Given the description of an element on the screen output the (x, y) to click on. 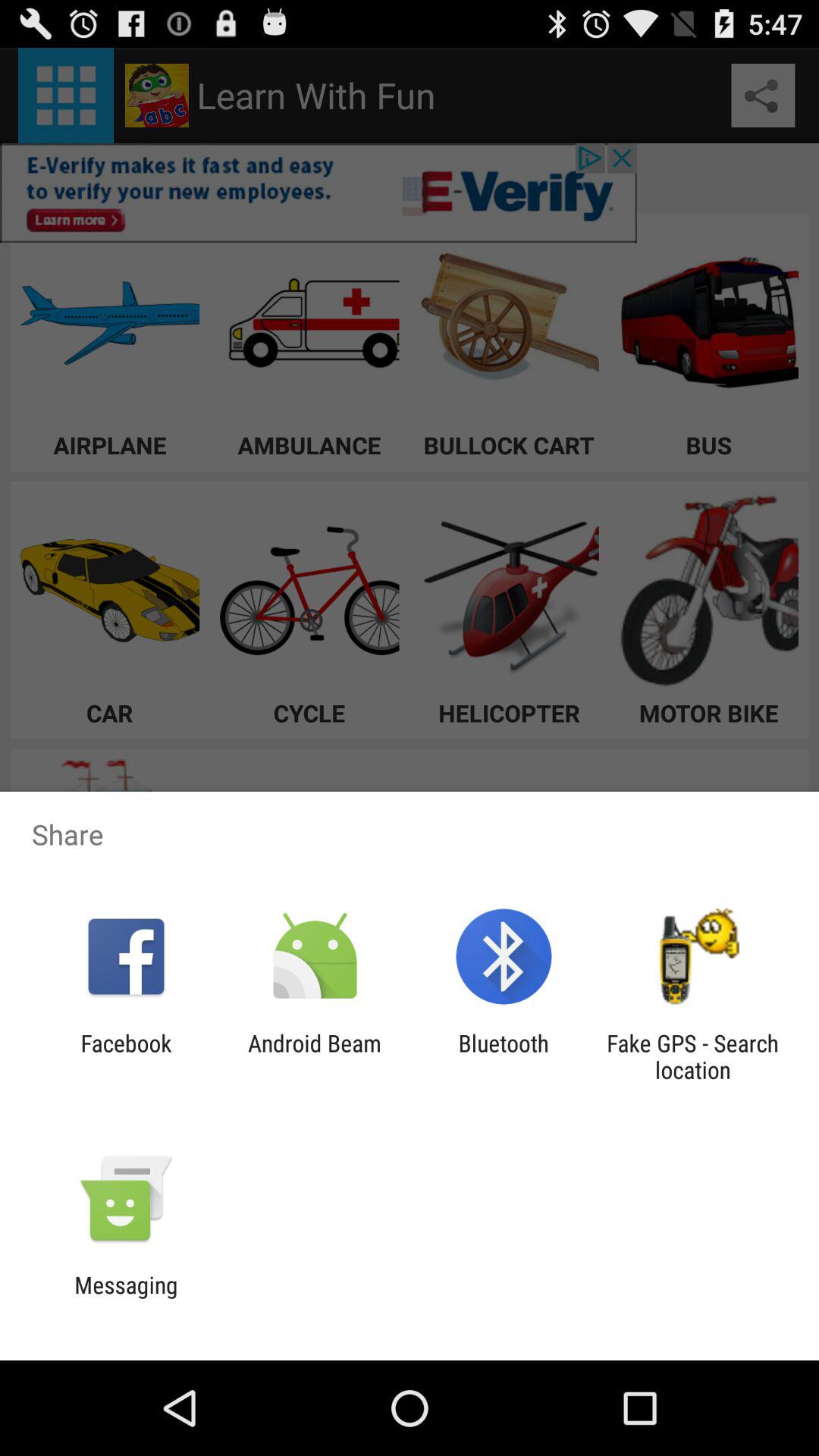
flip until bluetooth (503, 1056)
